Given the description of an element on the screen output the (x, y) to click on. 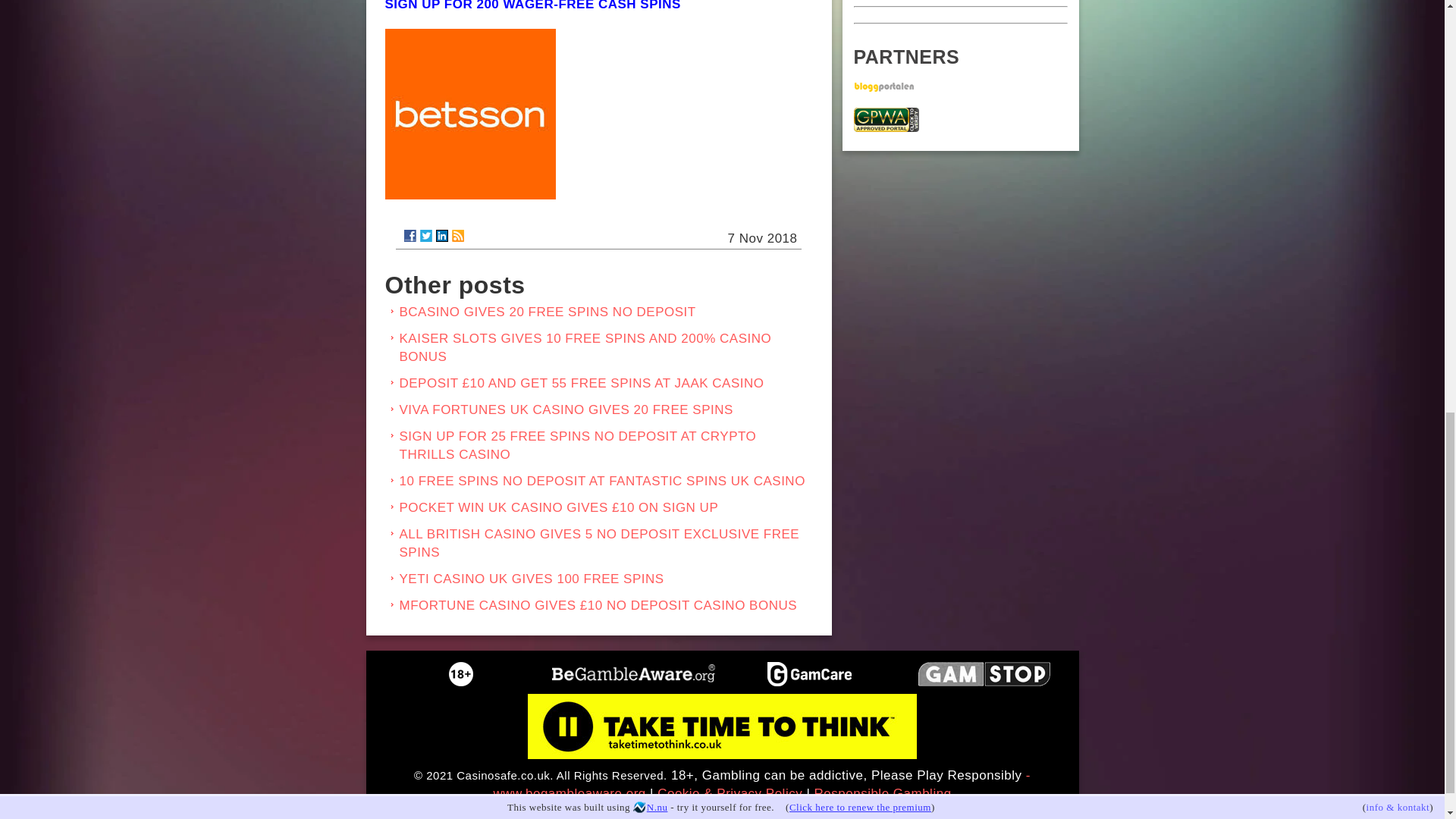
LinkedIn (440, 235)
ALL BRITISH CASINO GIVES 5 NO DEPOSIT EXCLUSIVE FREE SPINS (598, 543)
Twitter (426, 235)
SIGN UP FOR 200 WAGER-FREE CASH SPINS (533, 5)
10 FREE SPINS NO DEPOSIT AT FANTASTIC SPINS UK CASINO (601, 481)
YETI CASINO UK GIVES 100 FREE SPINS (530, 578)
VIVA FORTUNES UK CASINO GIVES 20 FREE SPINS (565, 409)
RSS (457, 235)
BCASINO GIVES 20 FREE SPINS NO DEPOSIT (546, 311)
